Given the description of an element on the screen output the (x, y) to click on. 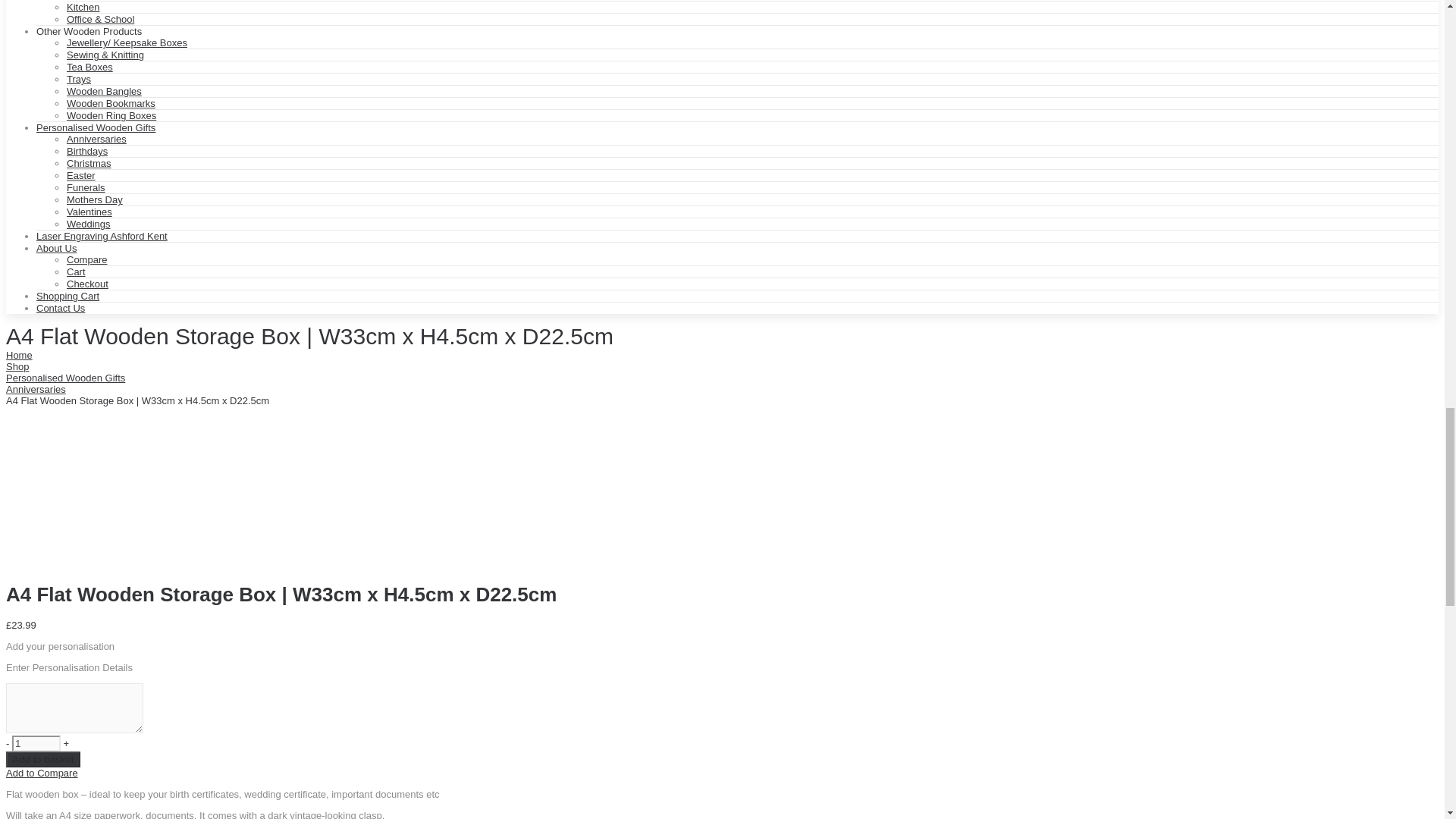
Add to Compare (41, 772)
Anniversaries (35, 389)
Qty (36, 743)
1 (36, 743)
Shop (17, 366)
Personalised Wooden Gifts (65, 378)
Home (18, 355)
